Given the description of an element on the screen output the (x, y) to click on. 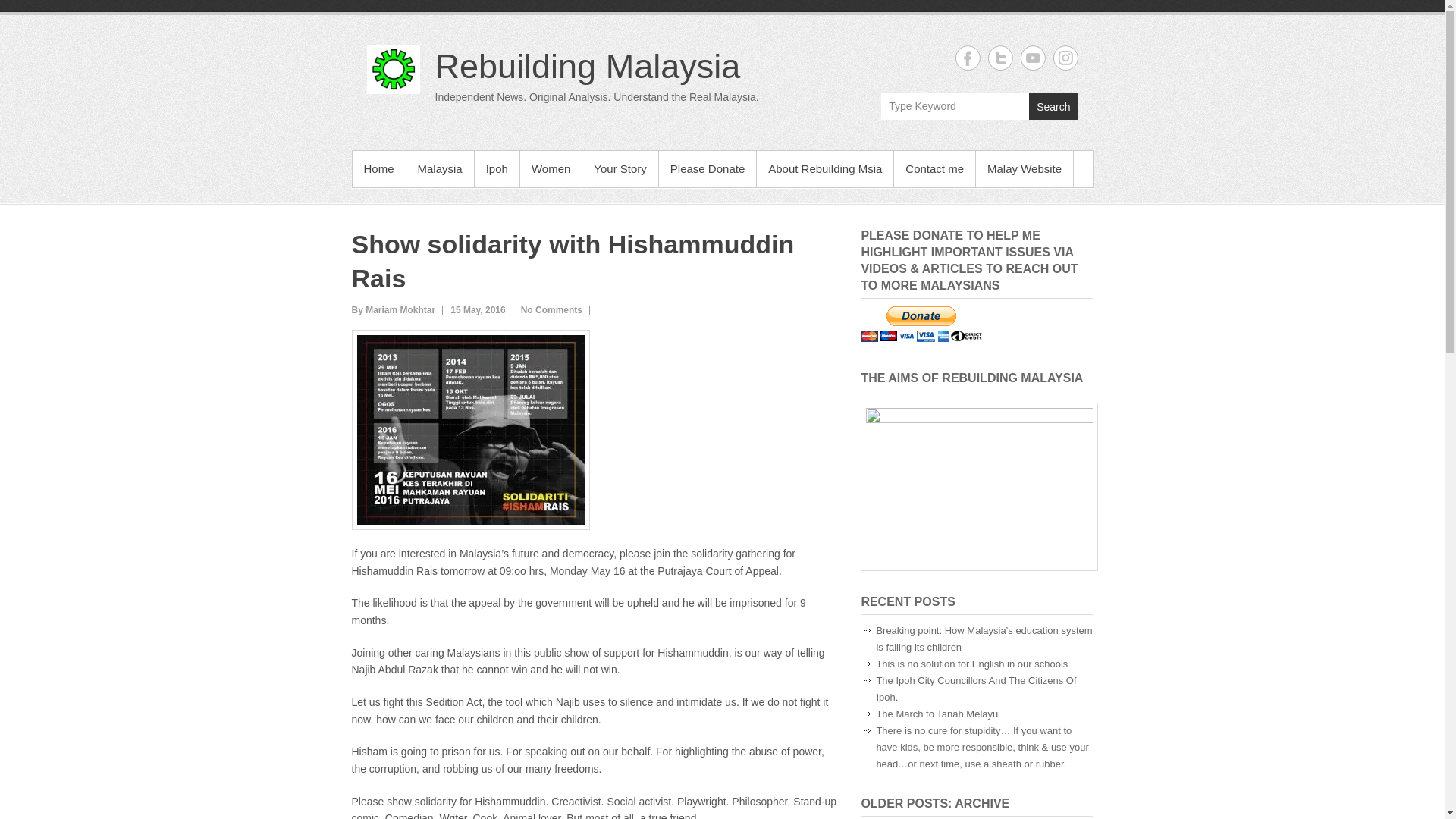
Women (549, 168)
Ipoh (496, 168)
Home (378, 168)
By Mariam Mokhtar (393, 309)
Search (1053, 106)
Rebuilding Malaysia on YouTube (1032, 57)
Rebuilding Malaysia Twitter (999, 57)
Type Keyword (955, 105)
Rebuilding Malaysia on Instagram (1064, 57)
PayPal - The safer, easier way to pay online! (920, 324)
